Given the description of an element on the screen output the (x, y) to click on. 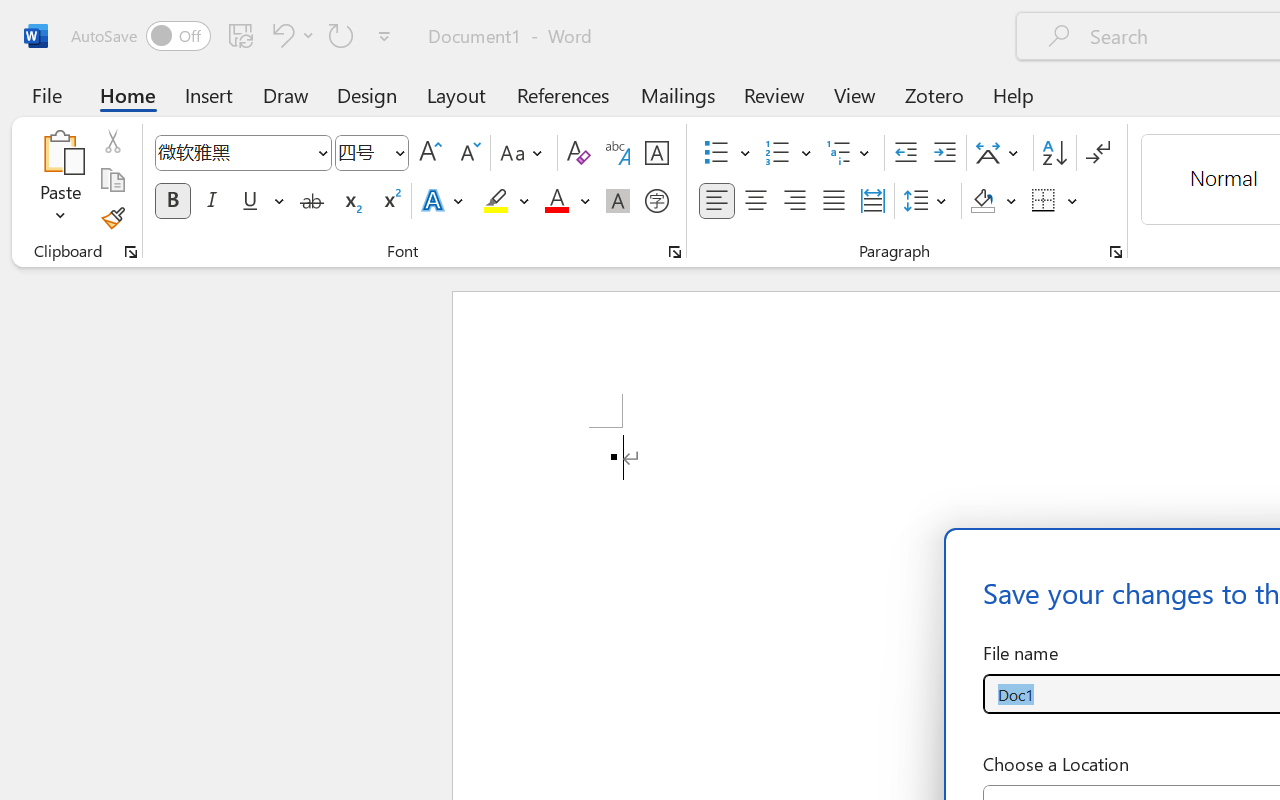
Undo <ApplyStyleToDoc>b__0 (290, 35)
